Given the description of an element on the screen output the (x, y) to click on. 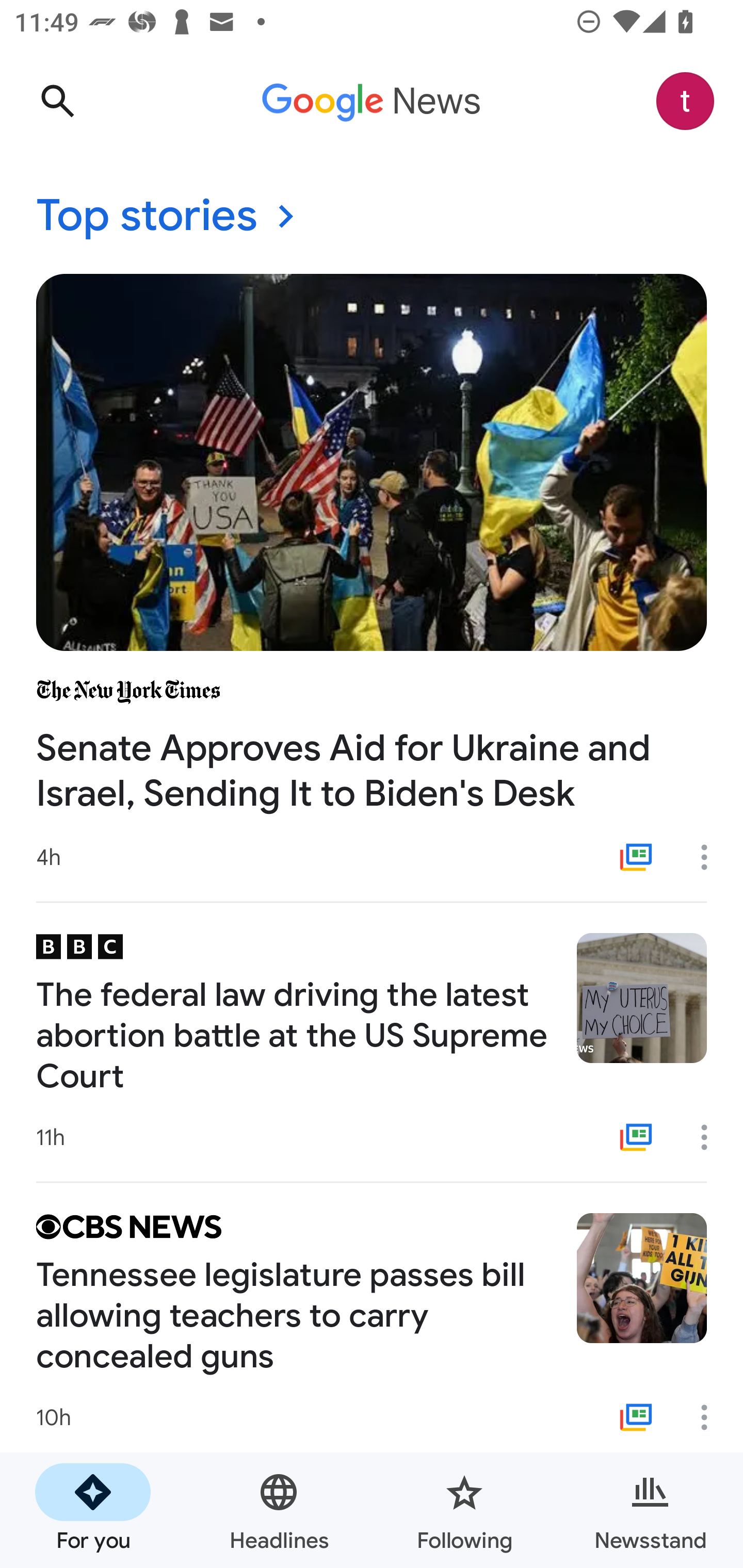
Search (57, 100)
Top stories (371, 216)
More options (711, 856)
More options (711, 1137)
More options (711, 1417)
For you (92, 1509)
Headlines (278, 1509)
Following (464, 1509)
Newsstand (650, 1509)
